Given the description of an element on the screen output the (x, y) to click on. 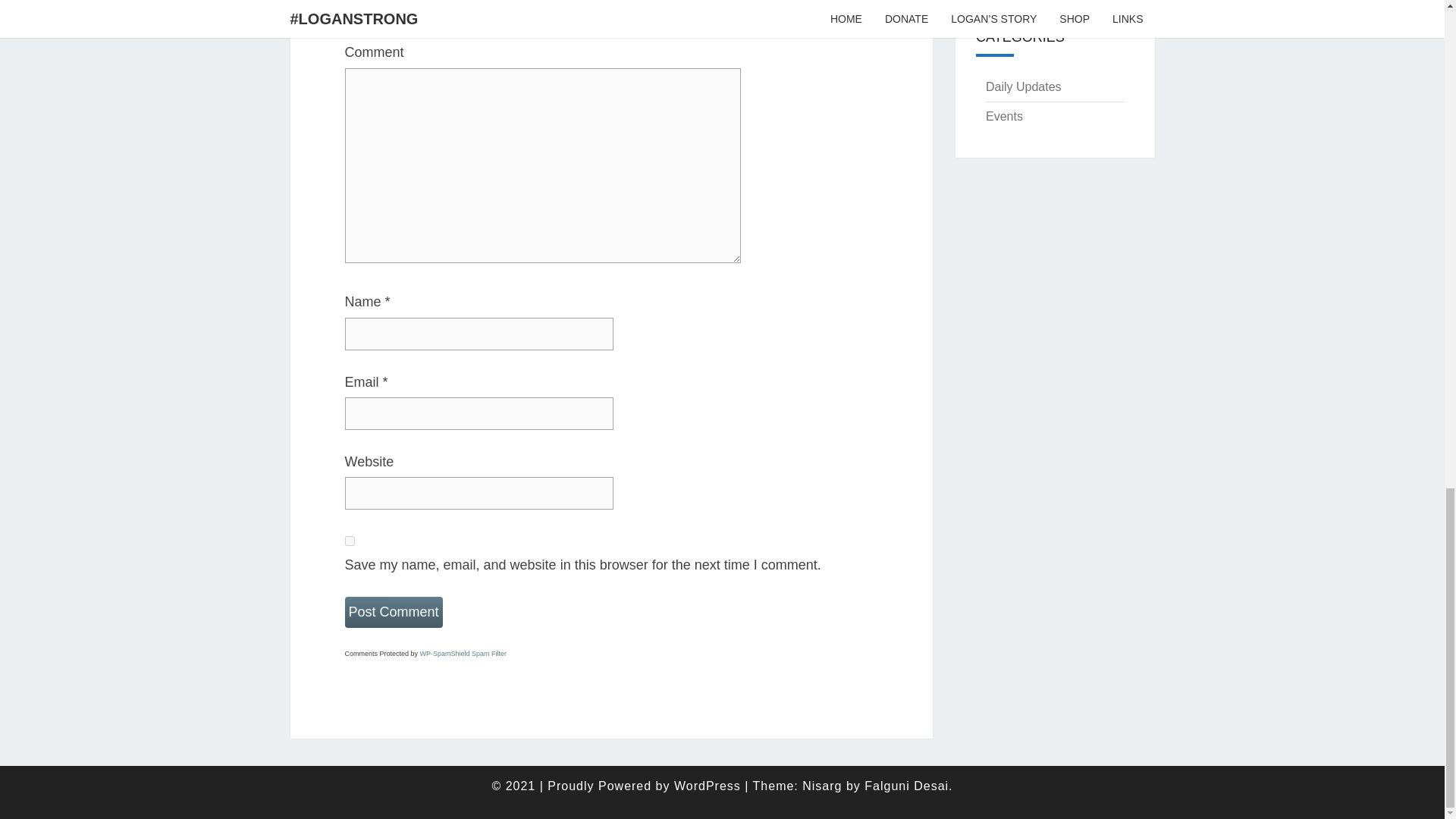
Post Comment (392, 612)
Falguni Desai (906, 784)
Post Comment (392, 612)
WP-SpamShield Spam Filter (463, 653)
Events (1004, 115)
WP-SpamShield WordPress Anti-Spam Plugin (463, 653)
yes (348, 541)
WordPress (707, 784)
Daily Updates (1023, 86)
